Given the description of an element on the screen output the (x, y) to click on. 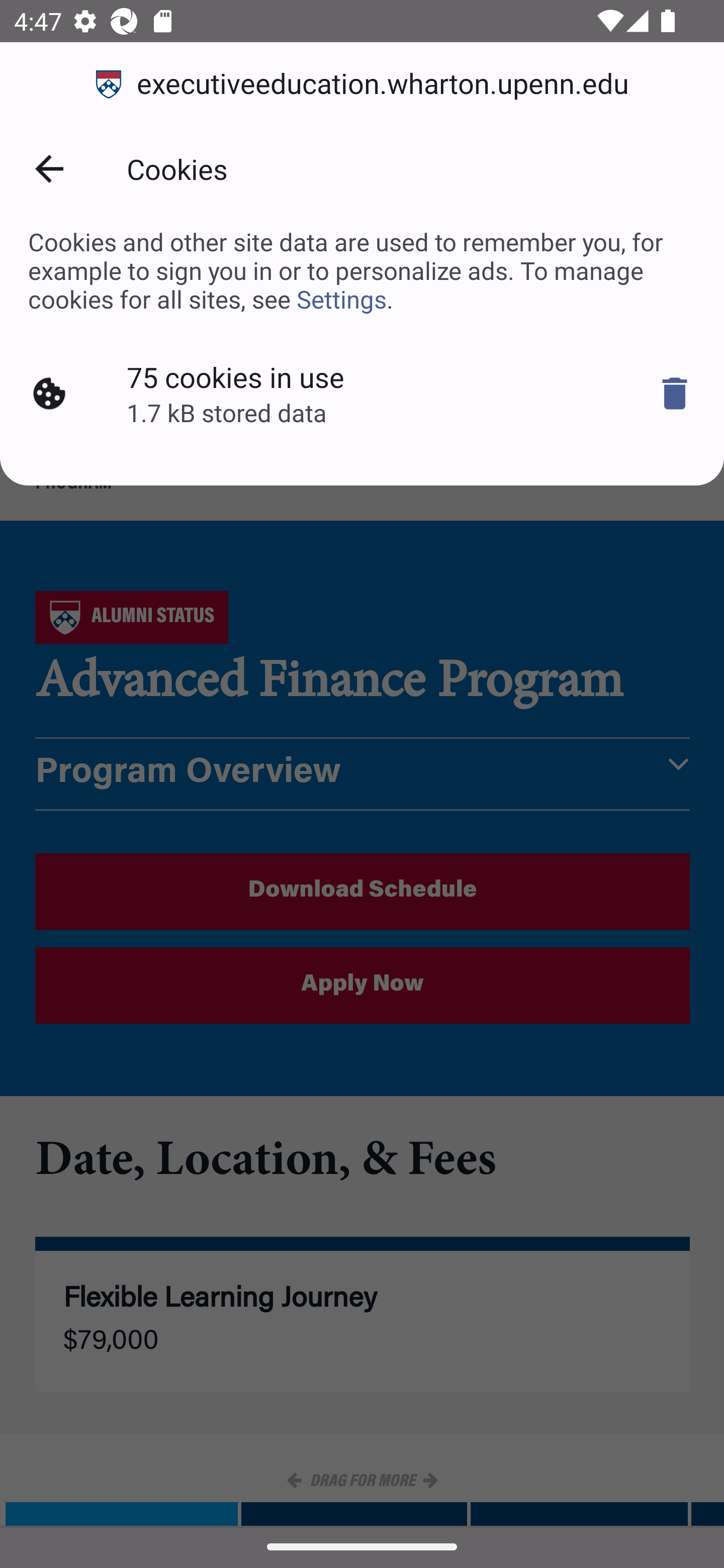
executiveeducation.wharton.upenn.edu (362, 84)
Back (49, 169)
